Given the description of an element on the screen output the (x, y) to click on. 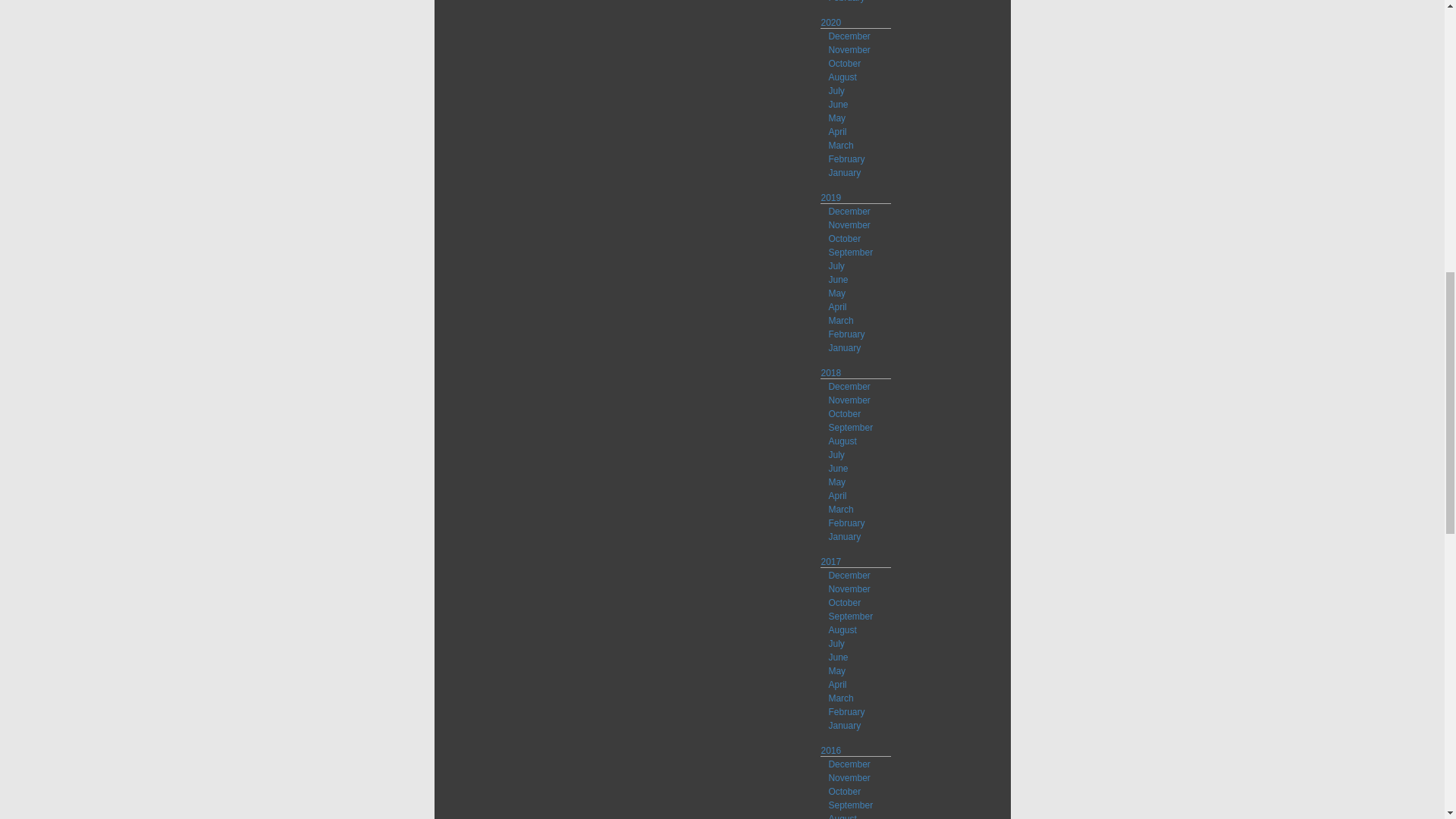
2020 (831, 22)
February (846, 158)
May (836, 118)
February (846, 1)
November (848, 225)
December (848, 36)
December (848, 211)
August (842, 77)
June (837, 104)
October (844, 63)
March (840, 145)
January (844, 172)
November (848, 50)
April (836, 131)
September (850, 252)
